Given the description of an element on the screen output the (x, y) to click on. 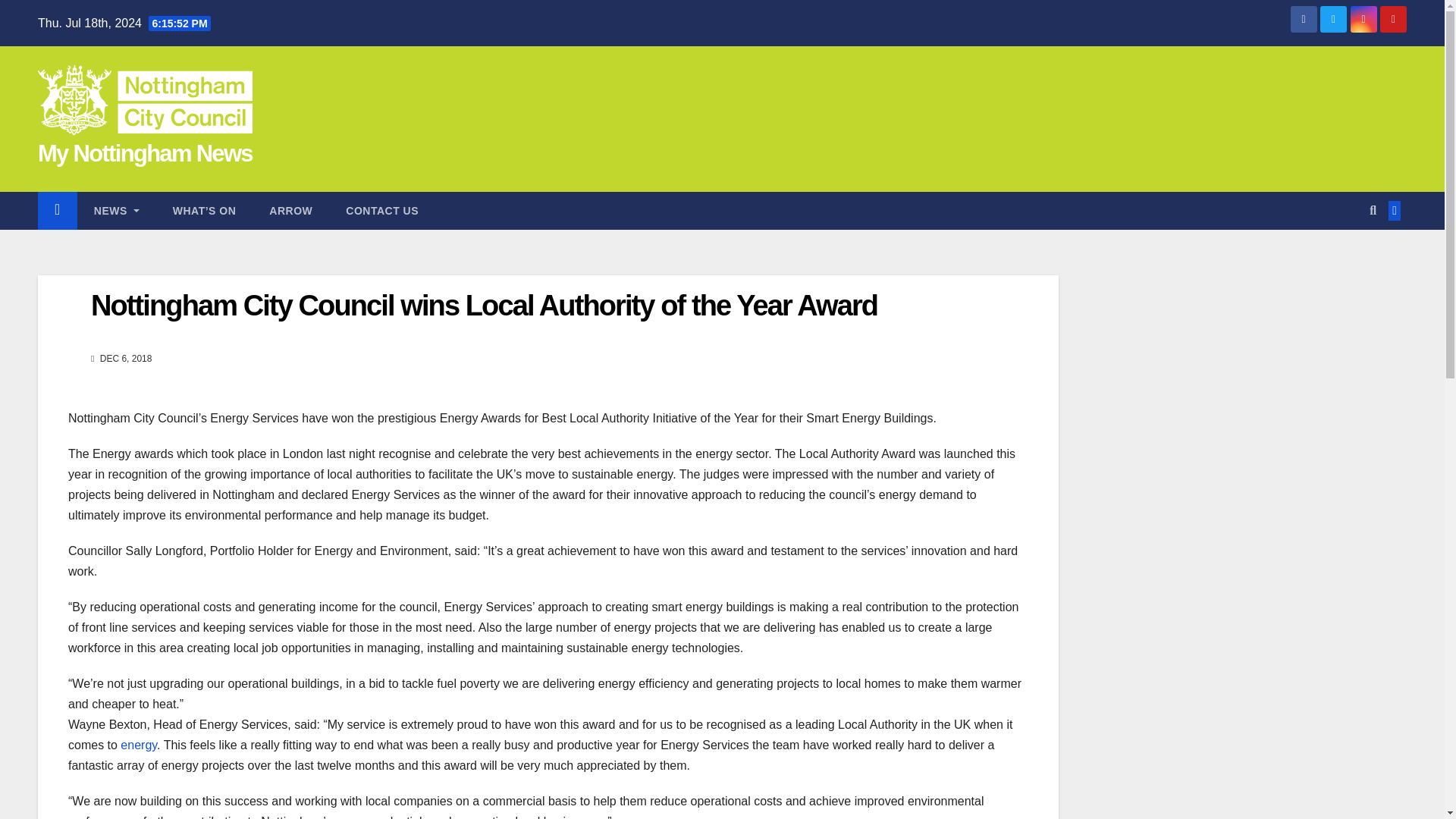
My Nottingham News (144, 153)
NEWS (116, 210)
CONTACT US (382, 210)
What's On (204, 210)
energy (138, 744)
ARROW (290, 210)
News (116, 210)
